Given the description of an element on the screen output the (x, y) to click on. 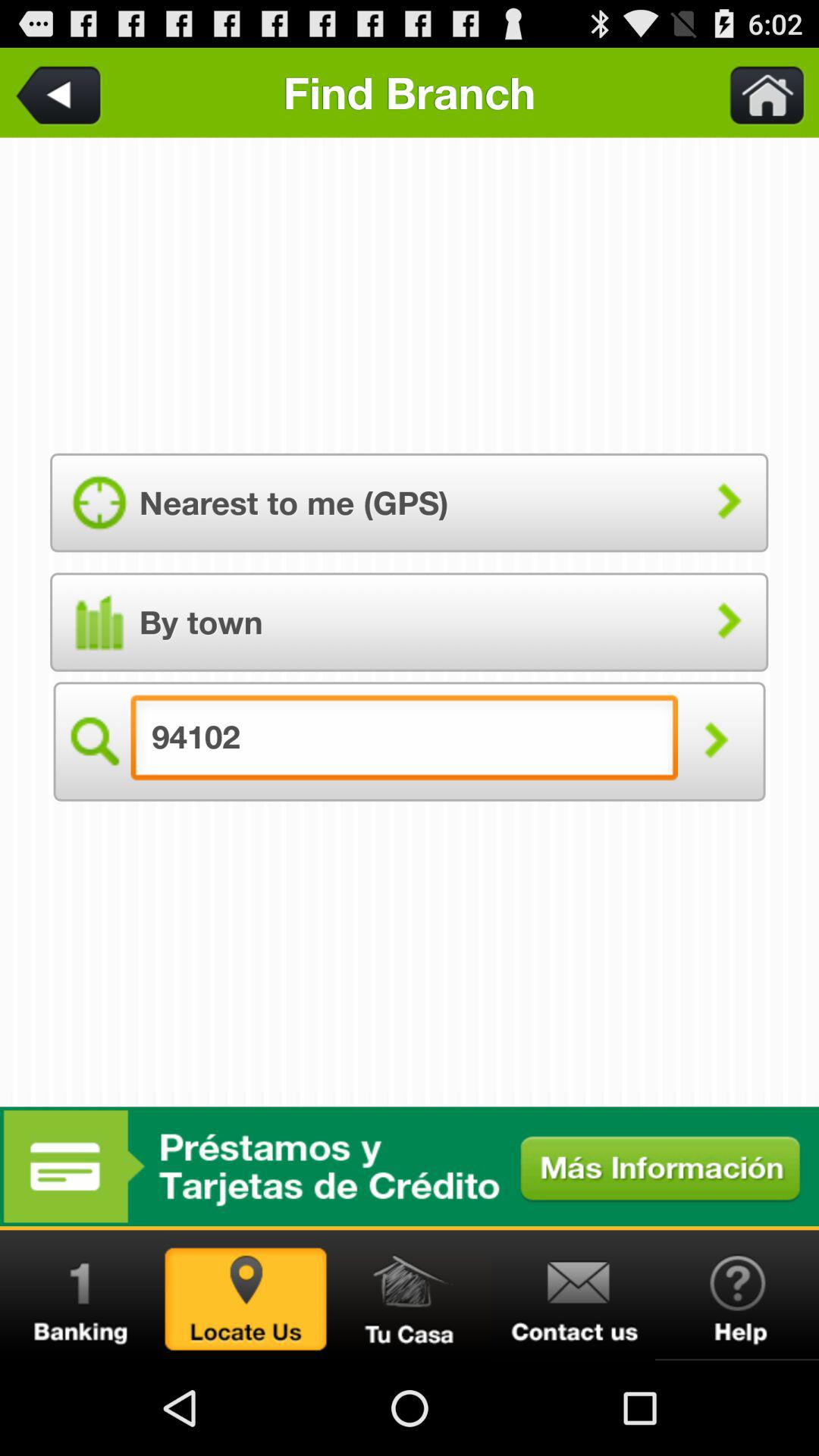
contact us (573, 1295)
